Given the description of an element on the screen output the (x, y) to click on. 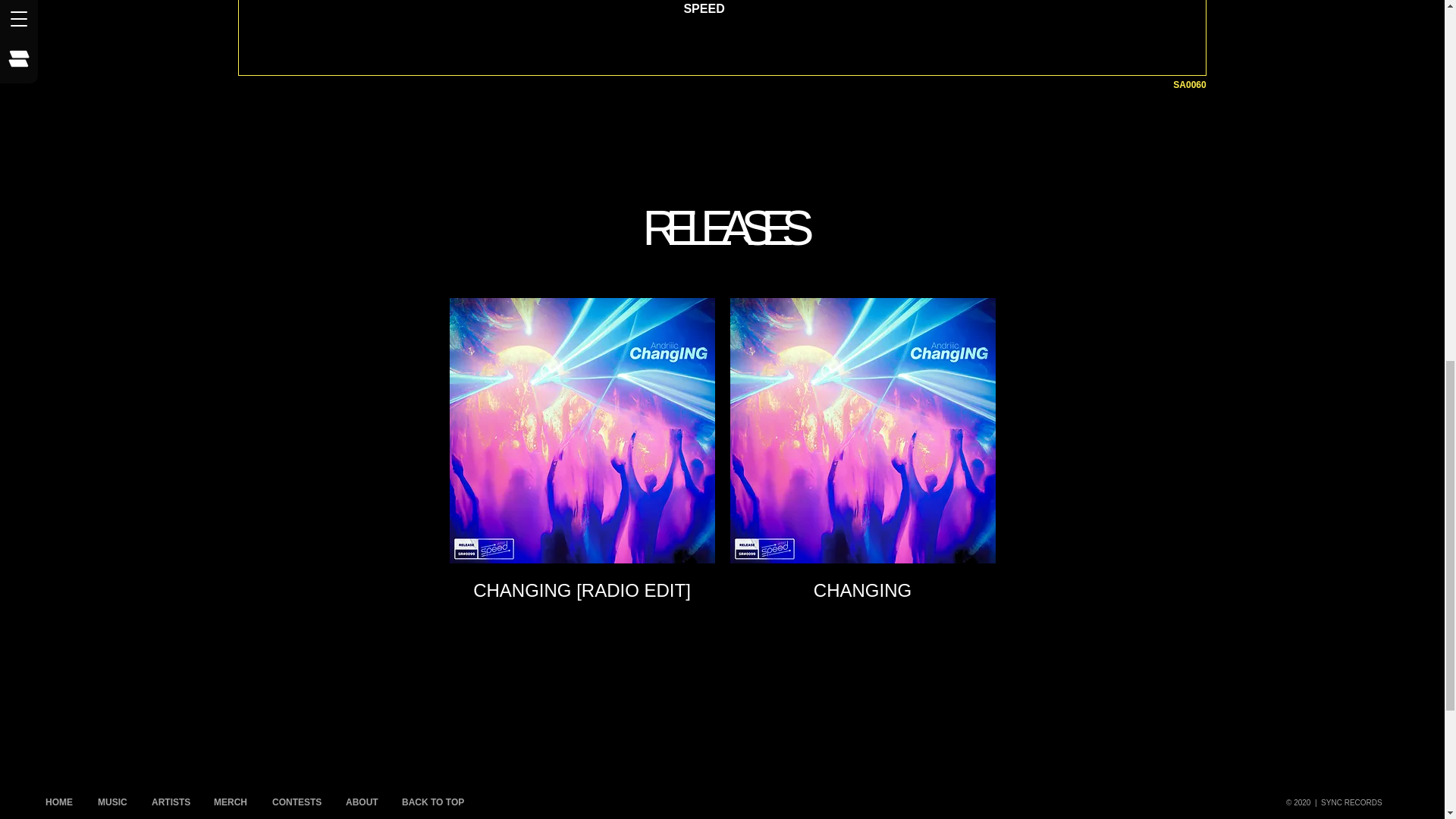
HOME (59, 799)
ABOUT (362, 799)
CONTESTS (297, 799)
MUSIC (112, 799)
ARTISTS (170, 799)
MERCH (231, 799)
